Given the description of an element on the screen output the (x, y) to click on. 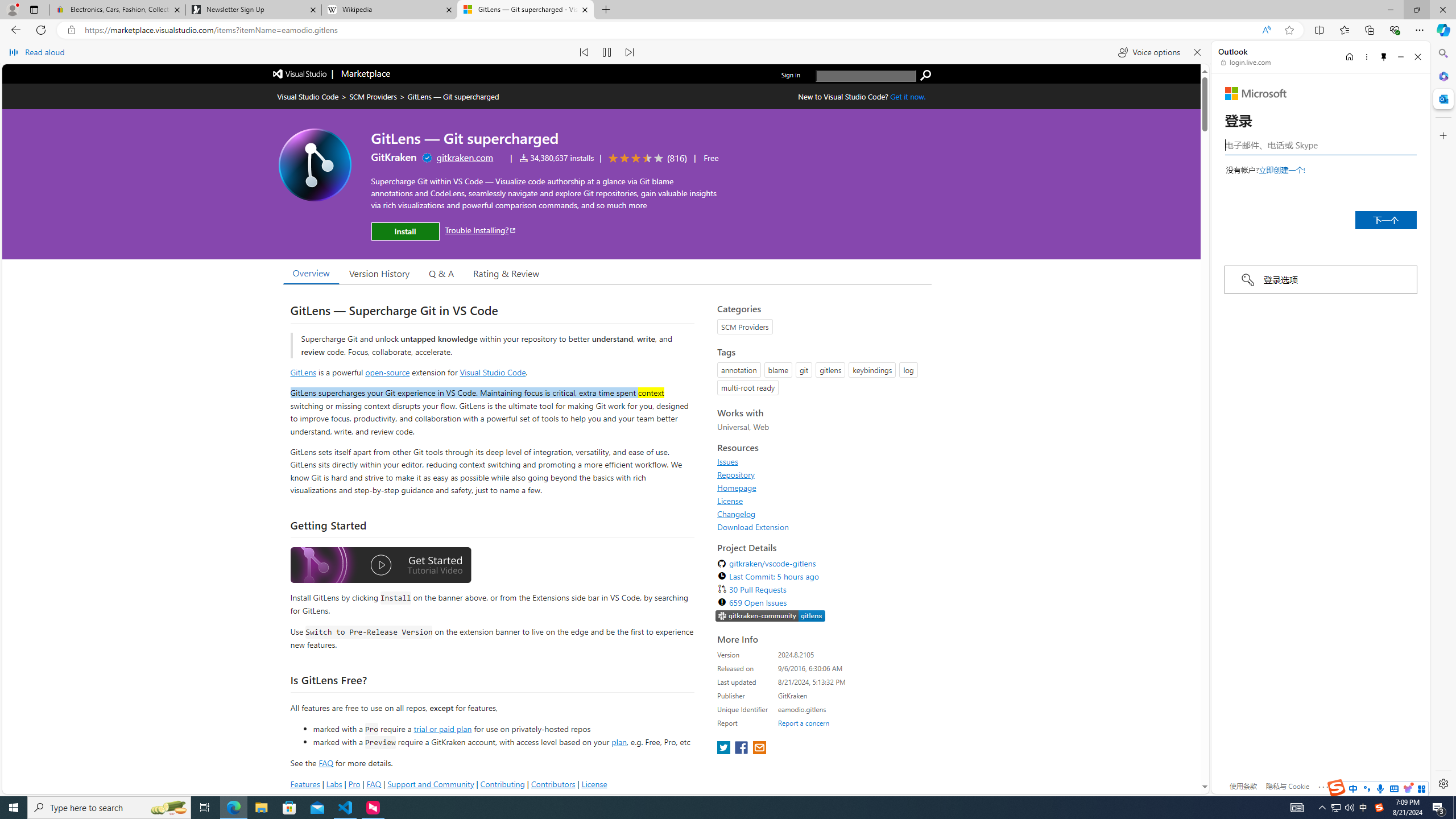
Read previous paragraph (583, 52)
Overview (310, 272)
share extension on email (759, 748)
Visual Studio Code (492, 371)
Voice options (1149, 52)
search (925, 75)
